Given the description of an element on the screen output the (x, y) to click on. 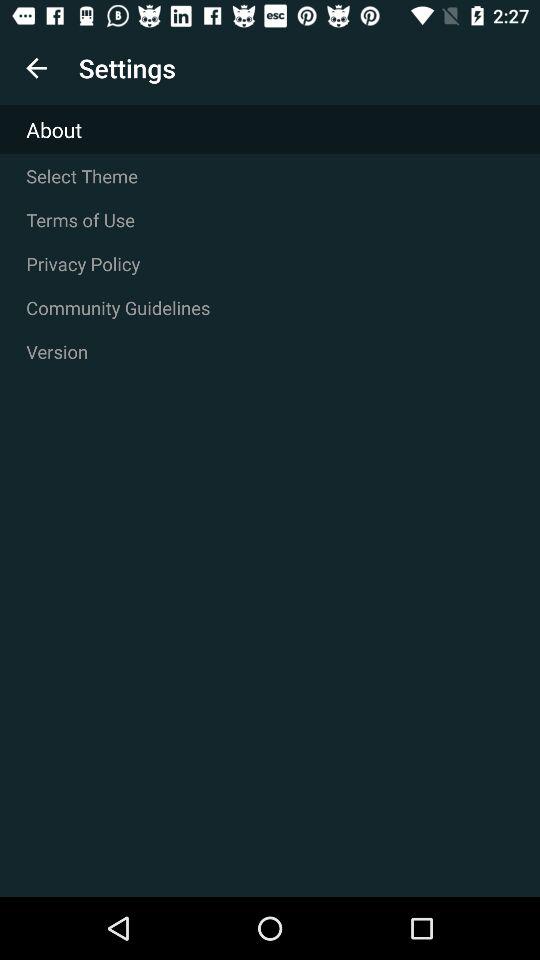
click community guidelines (270, 307)
